Given the description of an element on the screen output the (x, y) to click on. 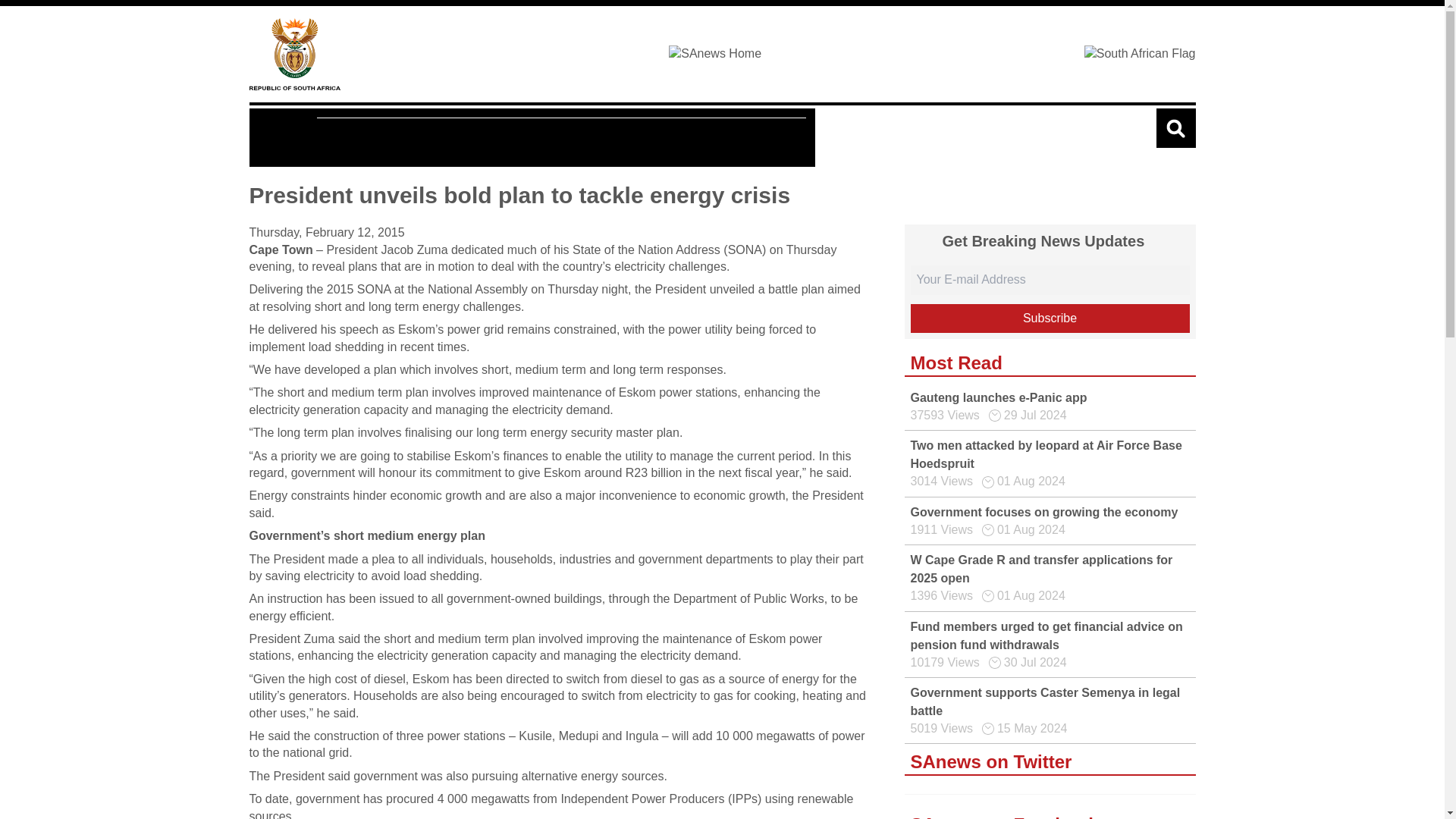
Gauteng launches e-Panic app (998, 397)
W Cape Grade R and transfer applications for 2025 open (1041, 568)
Government supports Caster Semenya in legal battle (1044, 701)
Home (293, 54)
Opinion Pieces (621, 137)
Features (355, 137)
Multimedia (439, 137)
Two men attacked by leopard at Air Force Base Hoedspruit (1045, 454)
Special Features (742, 137)
News (286, 137)
Galleries (523, 137)
Subscribe (1049, 317)
Government focuses on growing the economy (1043, 512)
Subscribe (1049, 317)
